Given the description of an element on the screen output the (x, y) to click on. 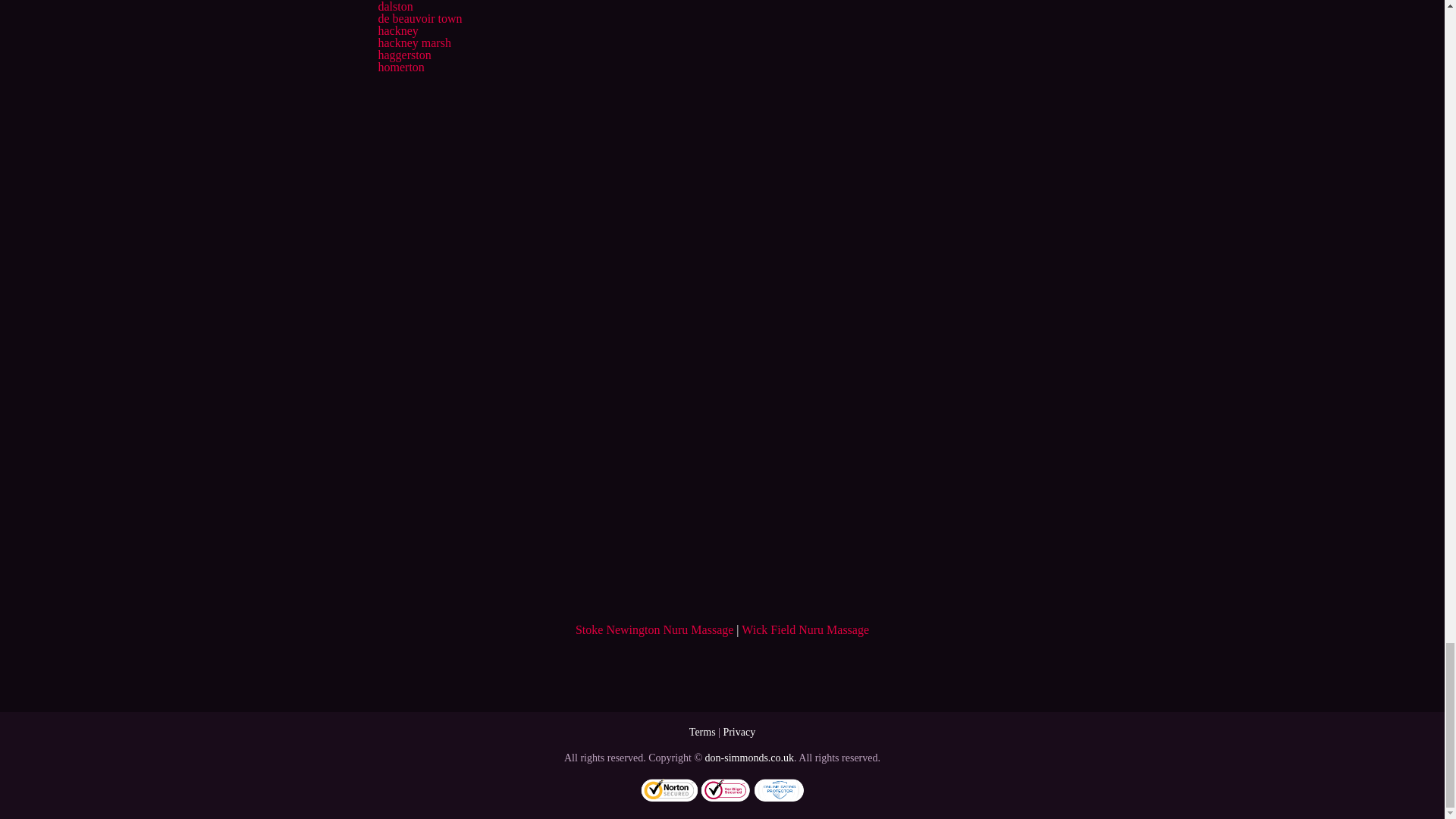
Stoke Newington Nuru Massage (654, 629)
don-simmonds.co.uk (748, 757)
Terms (702, 731)
homerton (400, 66)
Privacy (738, 731)
craven walk (406, 0)
Terms (702, 731)
haggerston (403, 54)
hackney (397, 30)
de beauvoir town (419, 18)
